Given the description of an element on the screen output the (x, y) to click on. 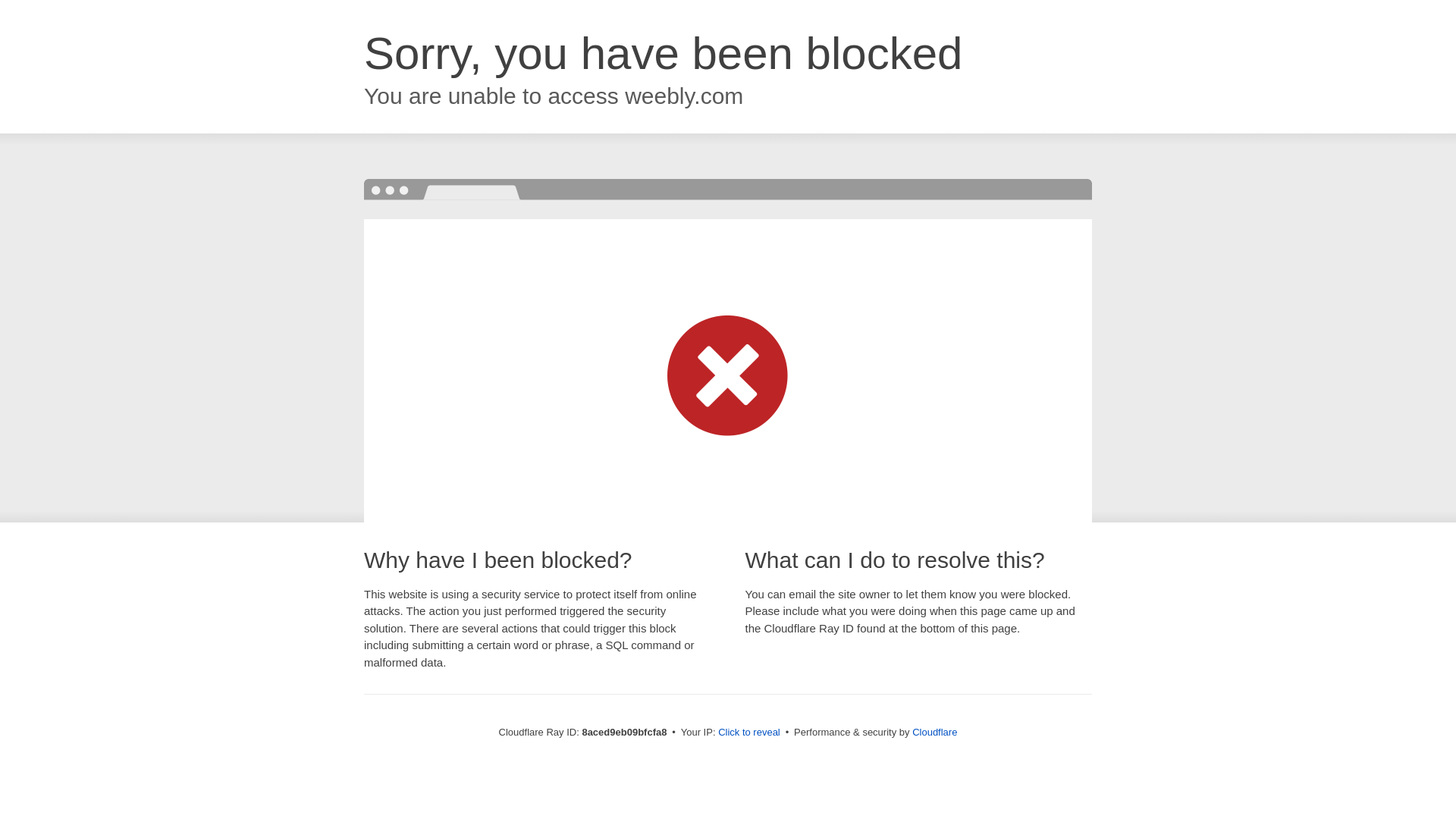
Cloudflare (934, 731)
Click to reveal (748, 732)
